Given the description of an element on the screen output the (x, y) to click on. 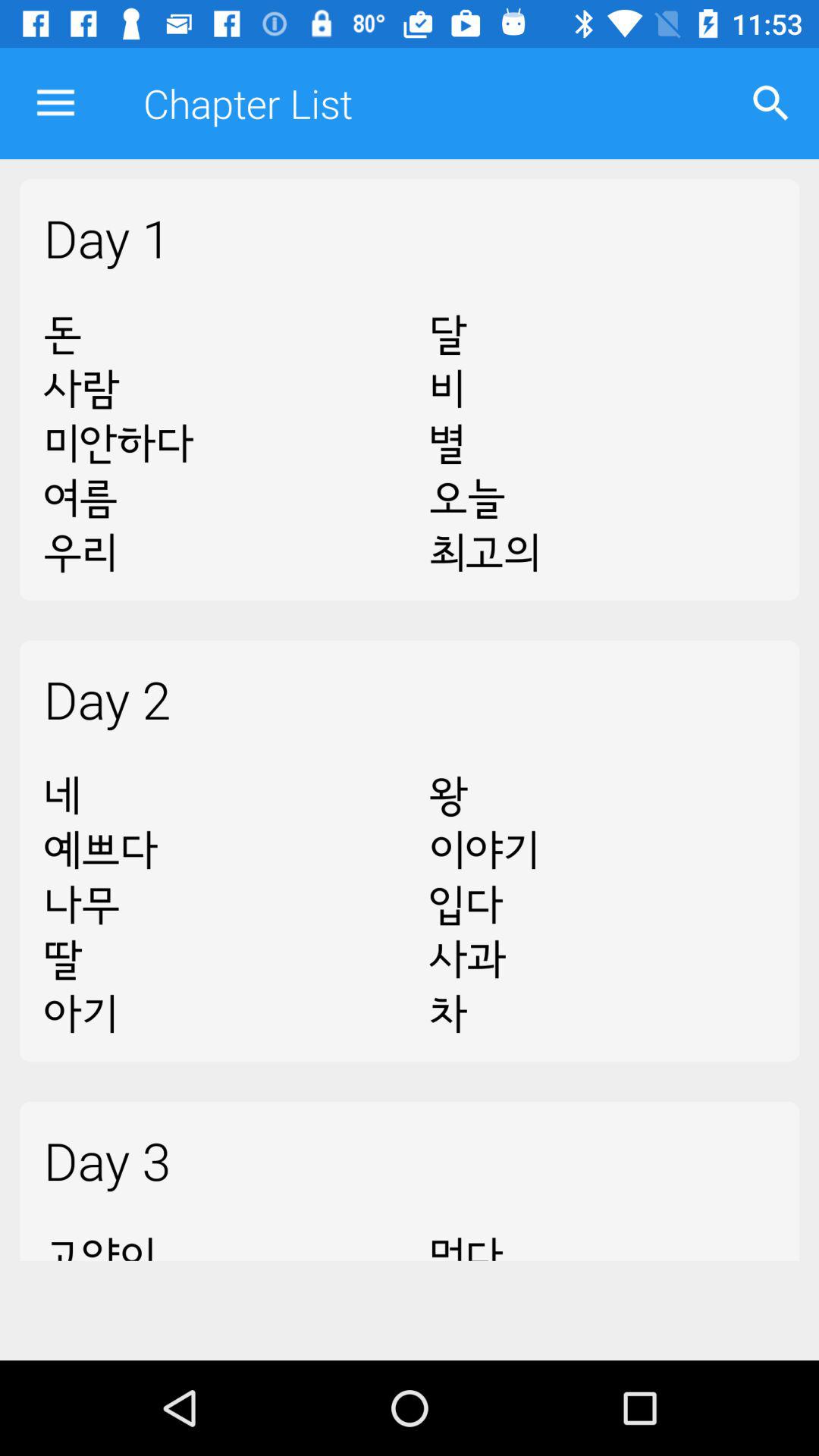
turn on item above the day 3 icon (602, 905)
